Given the description of an element on the screen output the (x, y) to click on. 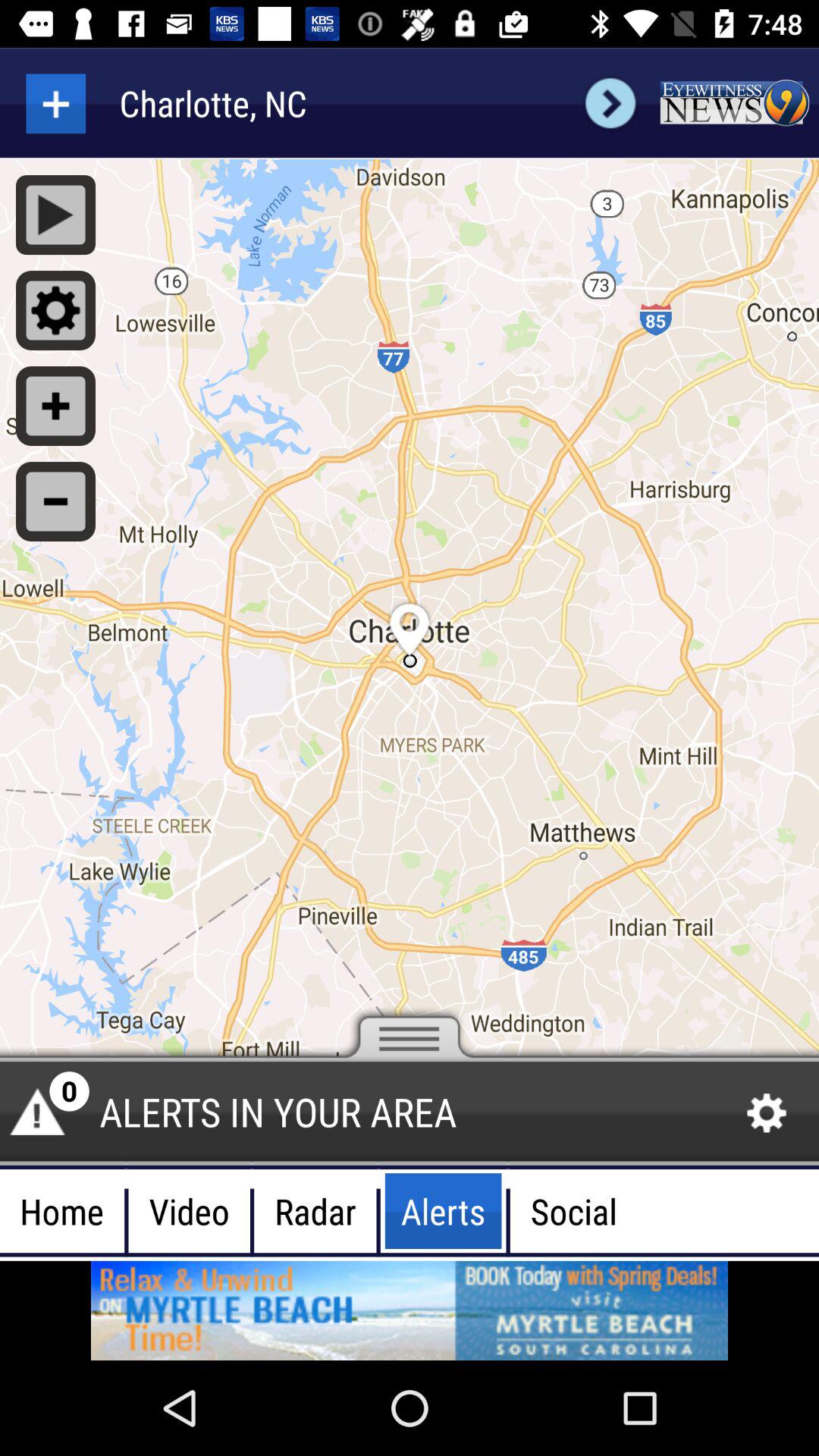
go to next (610, 103)
